Given the description of an element on the screen output the (x, y) to click on. 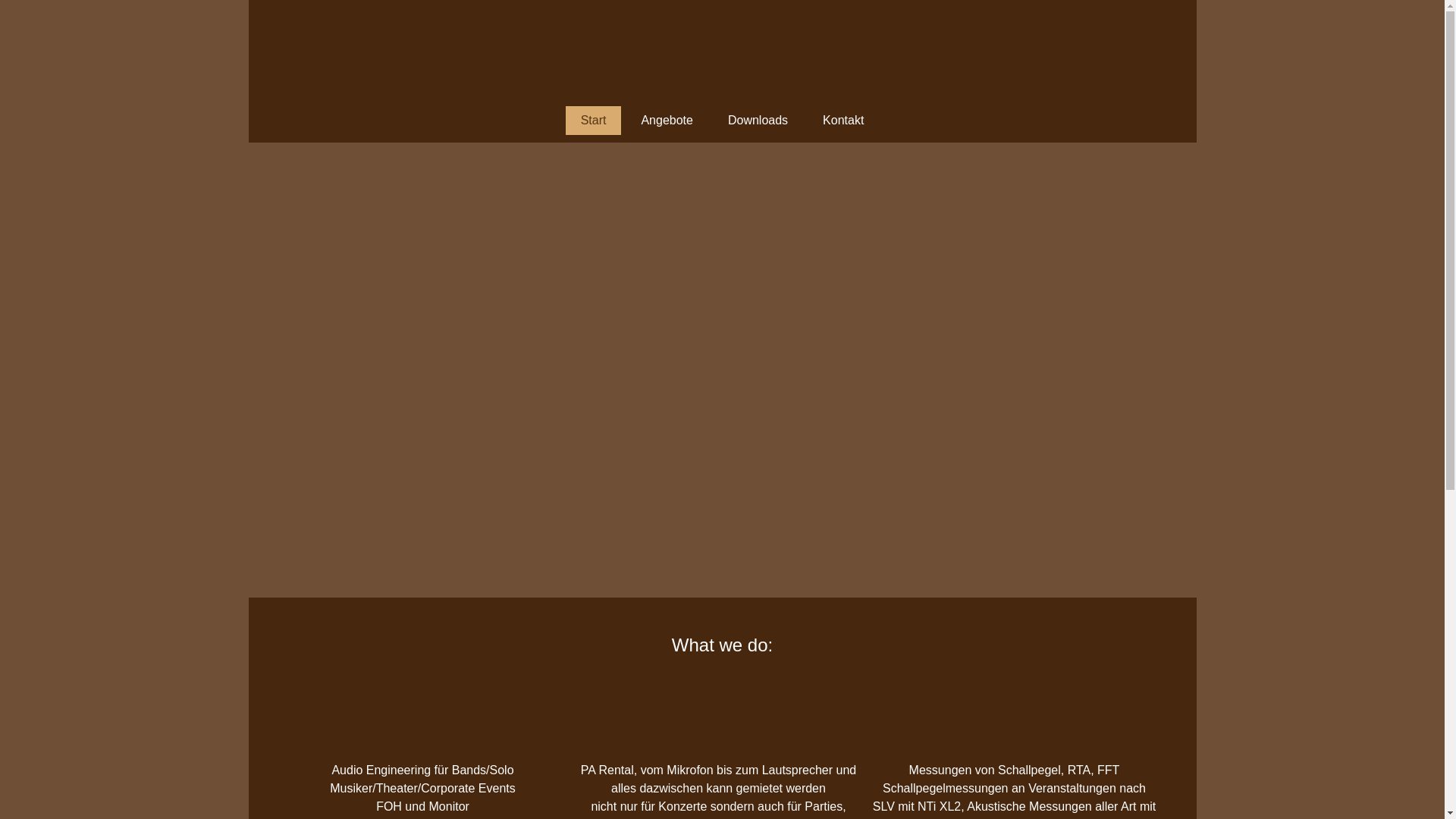
Kontakt Element type: text (842, 120)
Start Element type: text (593, 120)
Downloads Element type: text (757, 120)
Angebote Element type: text (666, 120)
